Given the description of an element on the screen output the (x, y) to click on. 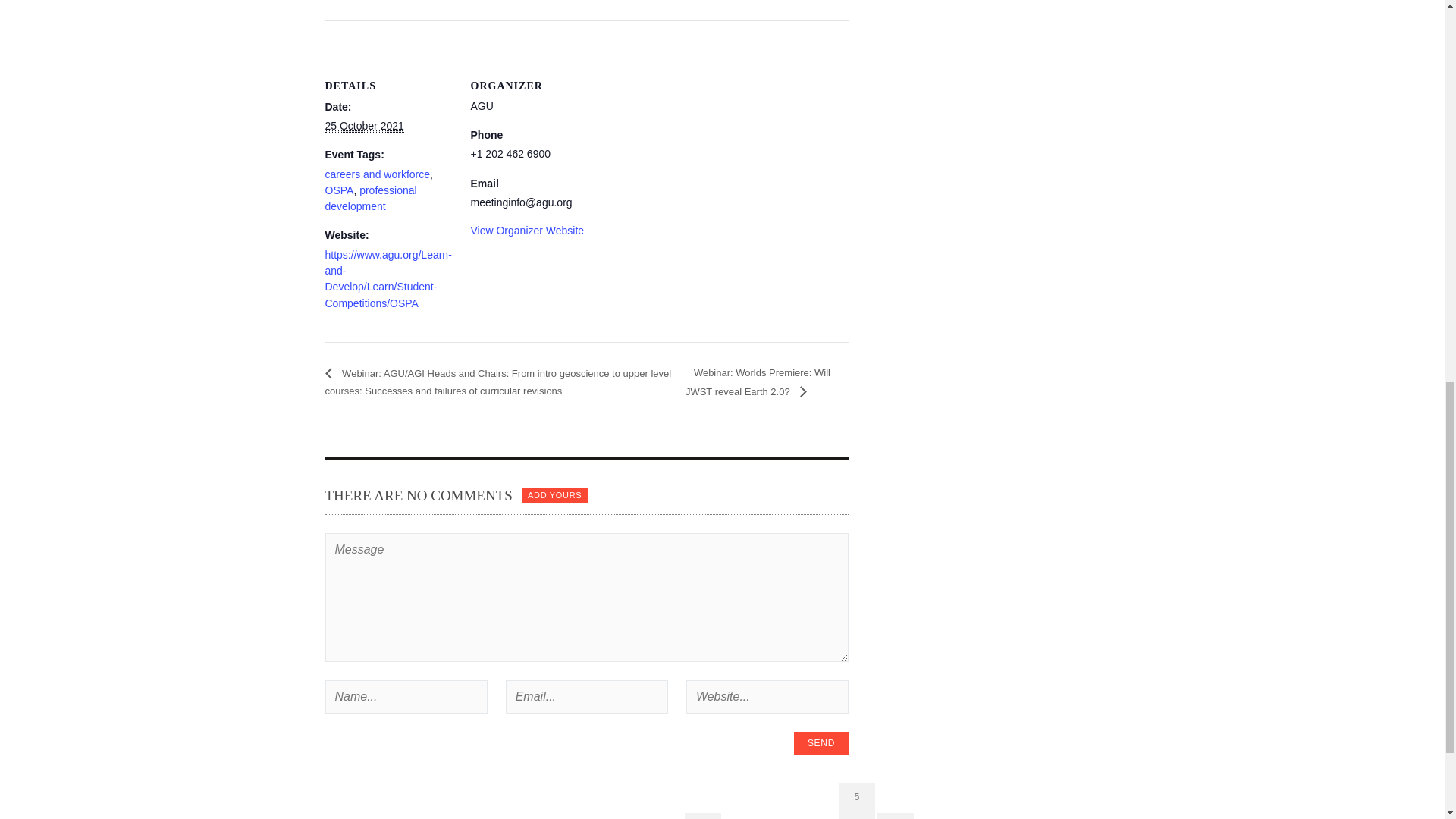
Webinar: Worlds Premiere: Will JWST reveal Earth 2.0? (757, 381)
Send (820, 743)
Send (820, 743)
OSPA (338, 190)
careers and workforce (376, 174)
2021-10-25 (363, 125)
View Organizer Website (526, 230)
professional development (370, 198)
ADD YOURS (554, 495)
